Given the description of an element on the screen output the (x, y) to click on. 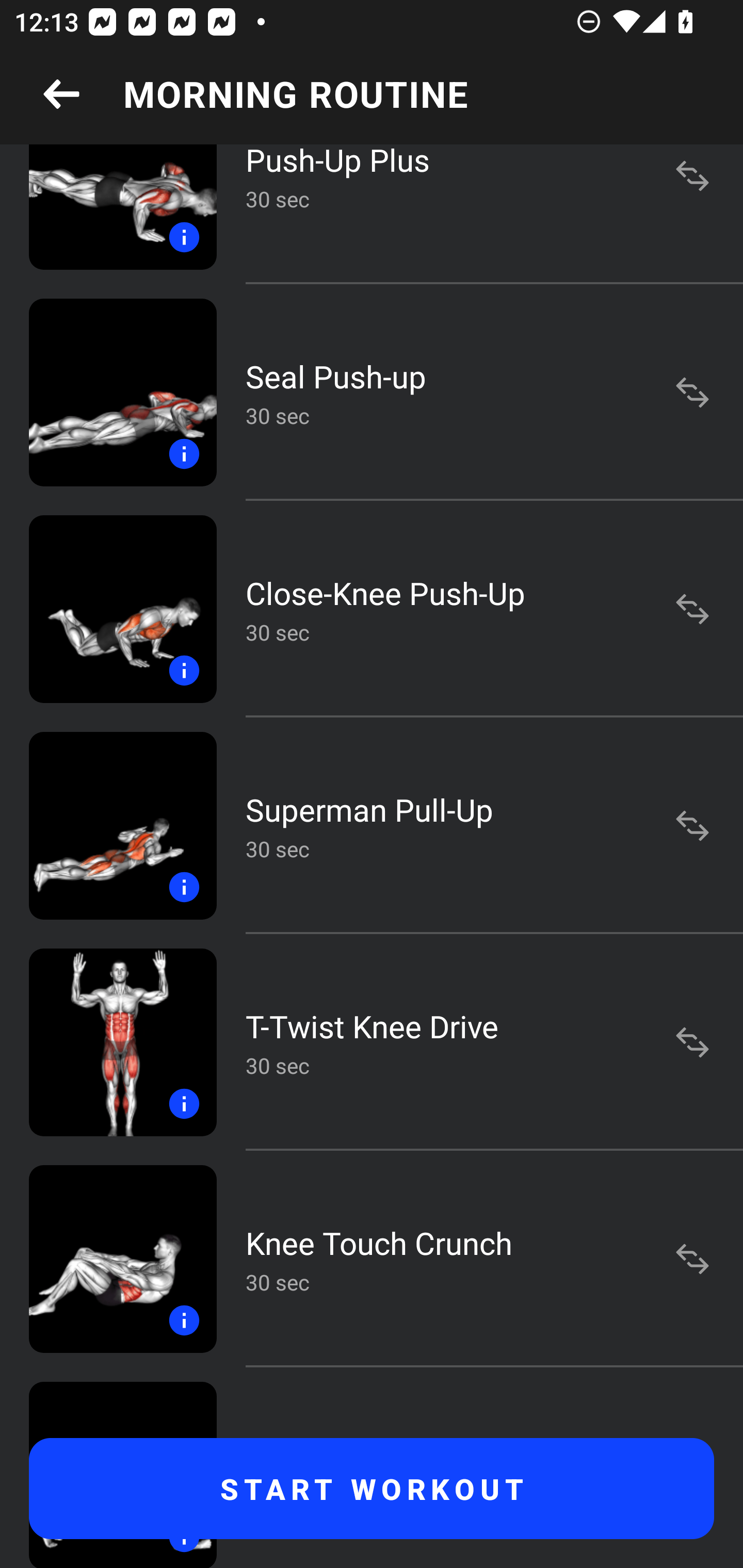
Push-Up Plus 30 sec (371, 213)
Seal Push-up 30 sec (371, 391)
Close-Knee Push-Up 30 sec (371, 609)
Superman Pull-Up 30 sec (371, 826)
T-Twist Knee Drive 30 sec (371, 1042)
Knee Touch Crunch 30 sec (371, 1258)
START WORKOUT (371, 1488)
